Given the description of an element on the screen output the (x, y) to click on. 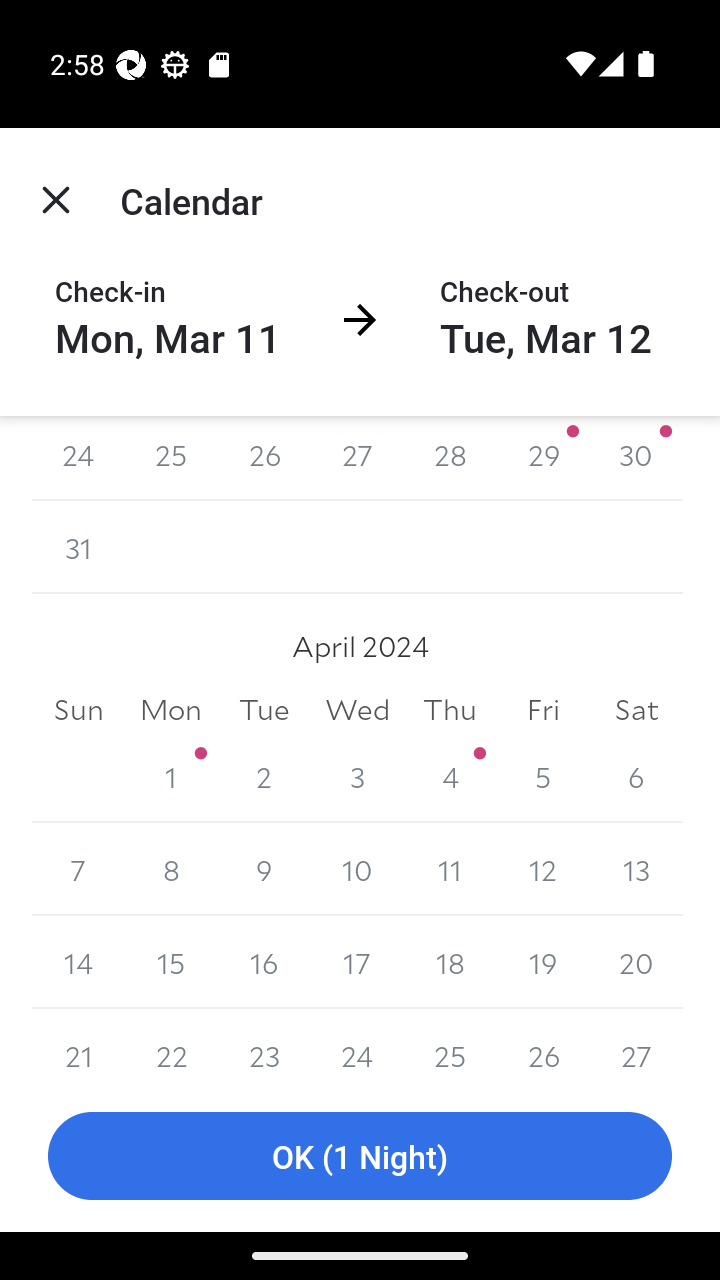
24 24 March 2024 (78, 458)
25 25 March 2024 (171, 458)
26 26 March 2024 (264, 458)
27 27 March 2024 (357, 458)
28 28 March 2024 (449, 458)
29 29 March 2024 (542, 458)
30 30 March 2024 (636, 458)
31 31 March 2024 (78, 546)
Sun (78, 708)
Mon (171, 708)
Tue (264, 708)
Wed (357, 708)
Thu (449, 708)
Fri (542, 708)
Sat (636, 708)
1 1 April 2024 (171, 776)
2 2 April 2024 (264, 776)
3 3 April 2024 (357, 776)
4 4 April 2024 (449, 776)
5 5 April 2024 (542, 776)
6 6 April 2024 (636, 776)
7 7 April 2024 (78, 869)
8 8 April 2024 (171, 869)
9 9 April 2024 (264, 869)
10 10 April 2024 (357, 869)
11 11 April 2024 (449, 869)
12 12 April 2024 (542, 869)
13 13 April 2024 (636, 869)
14 14 April 2024 (78, 962)
15 15 April 2024 (171, 962)
16 16 April 2024 (264, 962)
17 17 April 2024 (357, 962)
18 18 April 2024 (449, 962)
19 19 April 2024 (542, 962)
20 20 April 2024 (636, 962)
21 21 April 2024 (78, 1044)
22 22 April 2024 (171, 1044)
23 23 April 2024 (264, 1044)
24 24 April 2024 (357, 1044)
25 25 April 2024 (449, 1044)
26 26 April 2024 (542, 1044)
27 27 April 2024 (636, 1044)
OK (1 Night) (359, 1156)
